Given the description of an element on the screen output the (x, y) to click on. 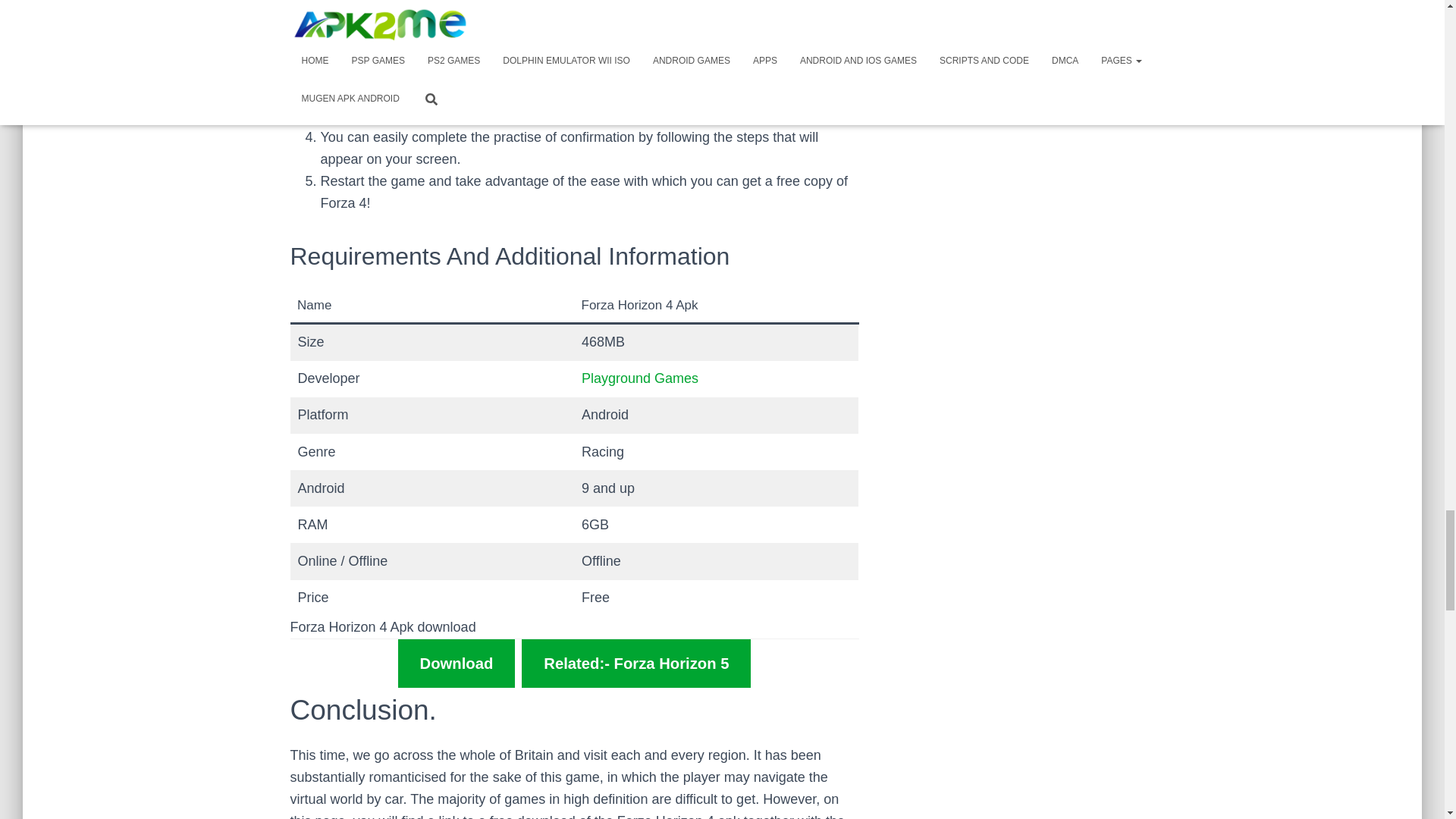
Playground Games (639, 378)
Related:- Forza Horizon 5 (636, 663)
Download (456, 663)
